Given the description of an element on the screen output the (x, y) to click on. 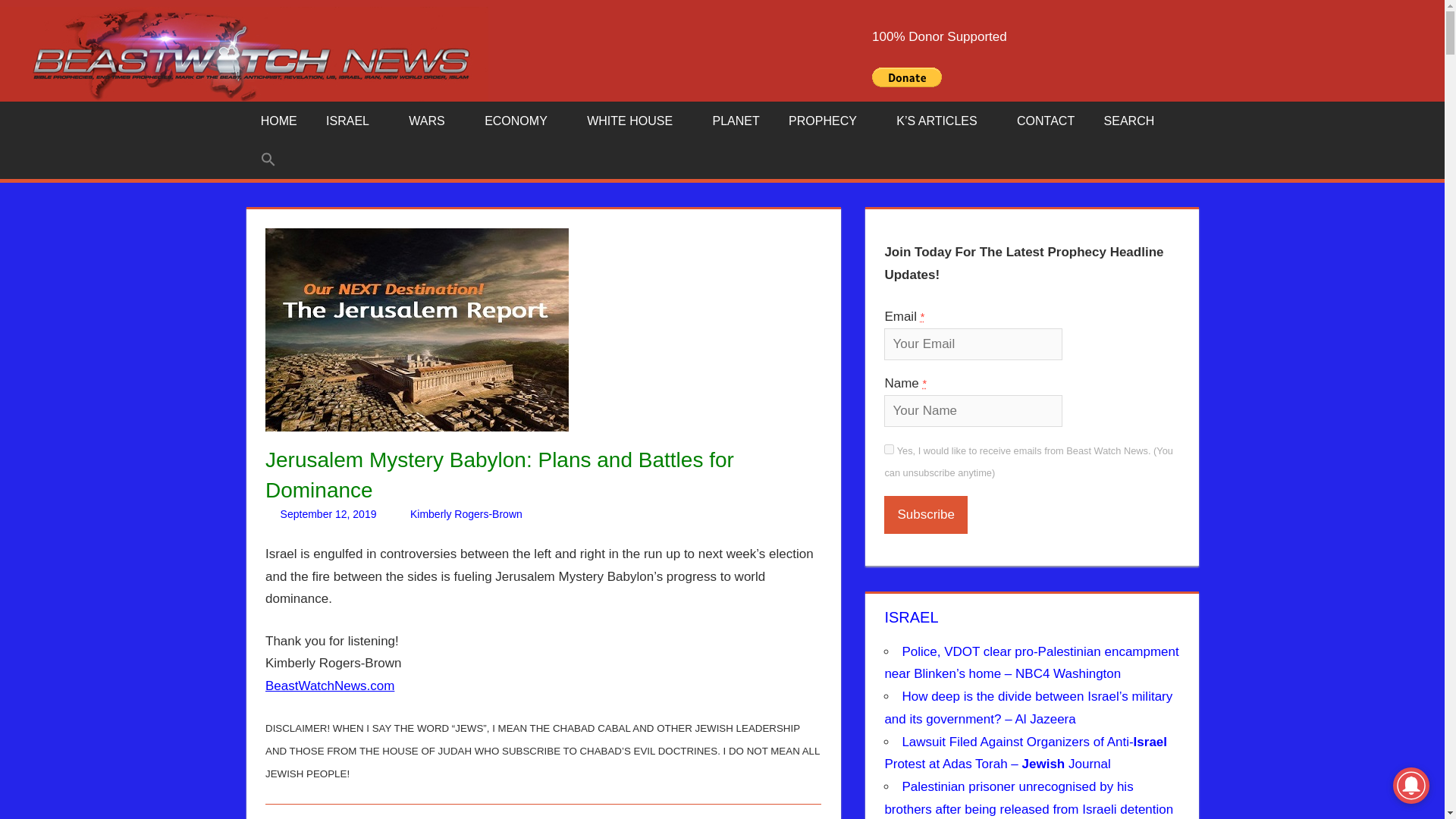
HOME (278, 121)
1 (888, 449)
Subscribe (925, 514)
View all posts by Kimberly Rogers-Brown (466, 513)
WARS (432, 121)
Beast Watch News Home Page (278, 121)
ISRAEL (352, 121)
ECONOMY (521, 121)
WHITE HOUSE (634, 121)
5:55 pm (329, 513)
